Given the description of an element on the screen output the (x, y) to click on. 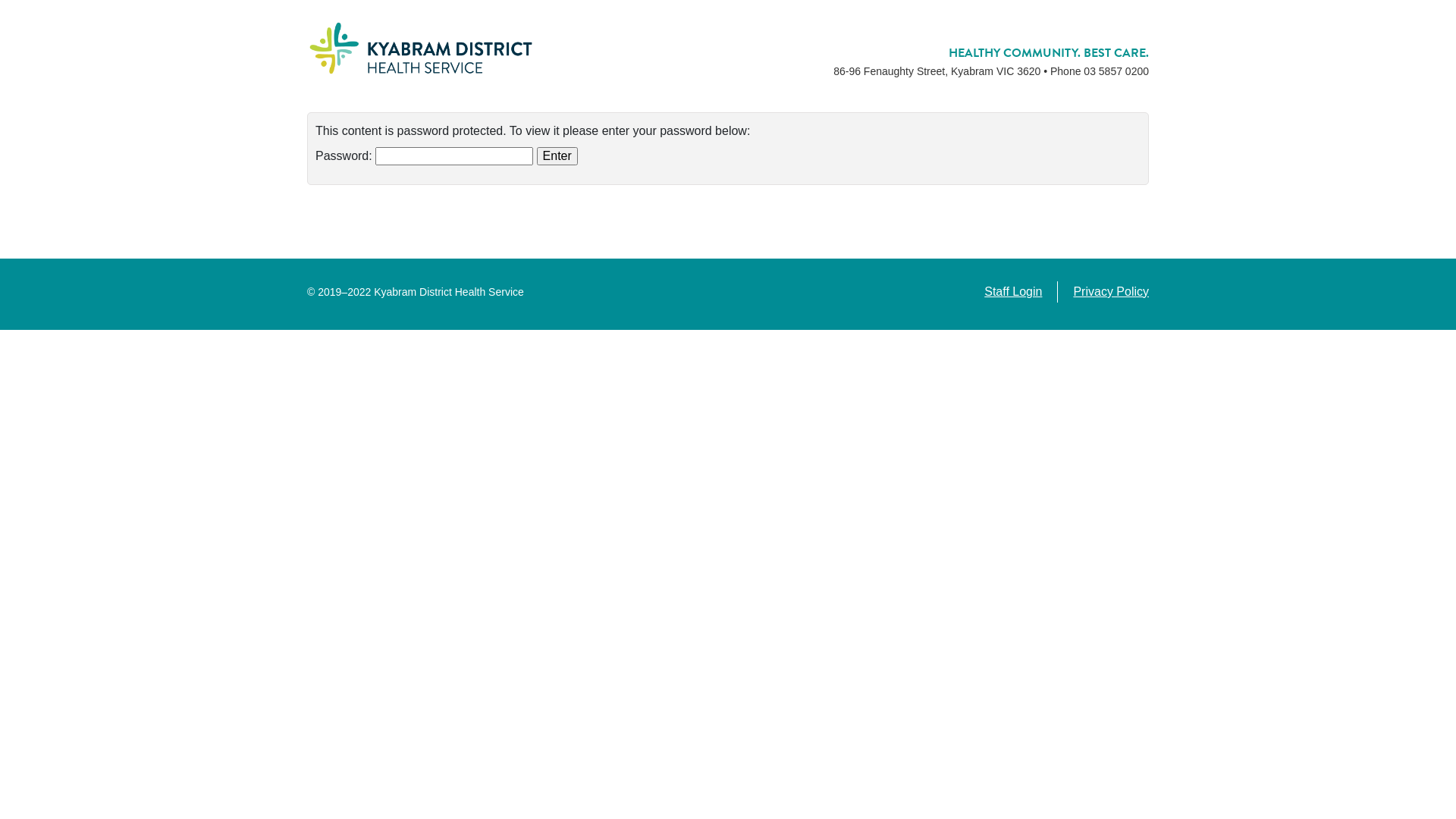
03 5857 0200 Element type: text (1115, 71)
Enter Element type: text (556, 156)
Privacy Policy Element type: text (1110, 291)
Staff Login Element type: text (1012, 291)
